Given the description of an element on the screen output the (x, y) to click on. 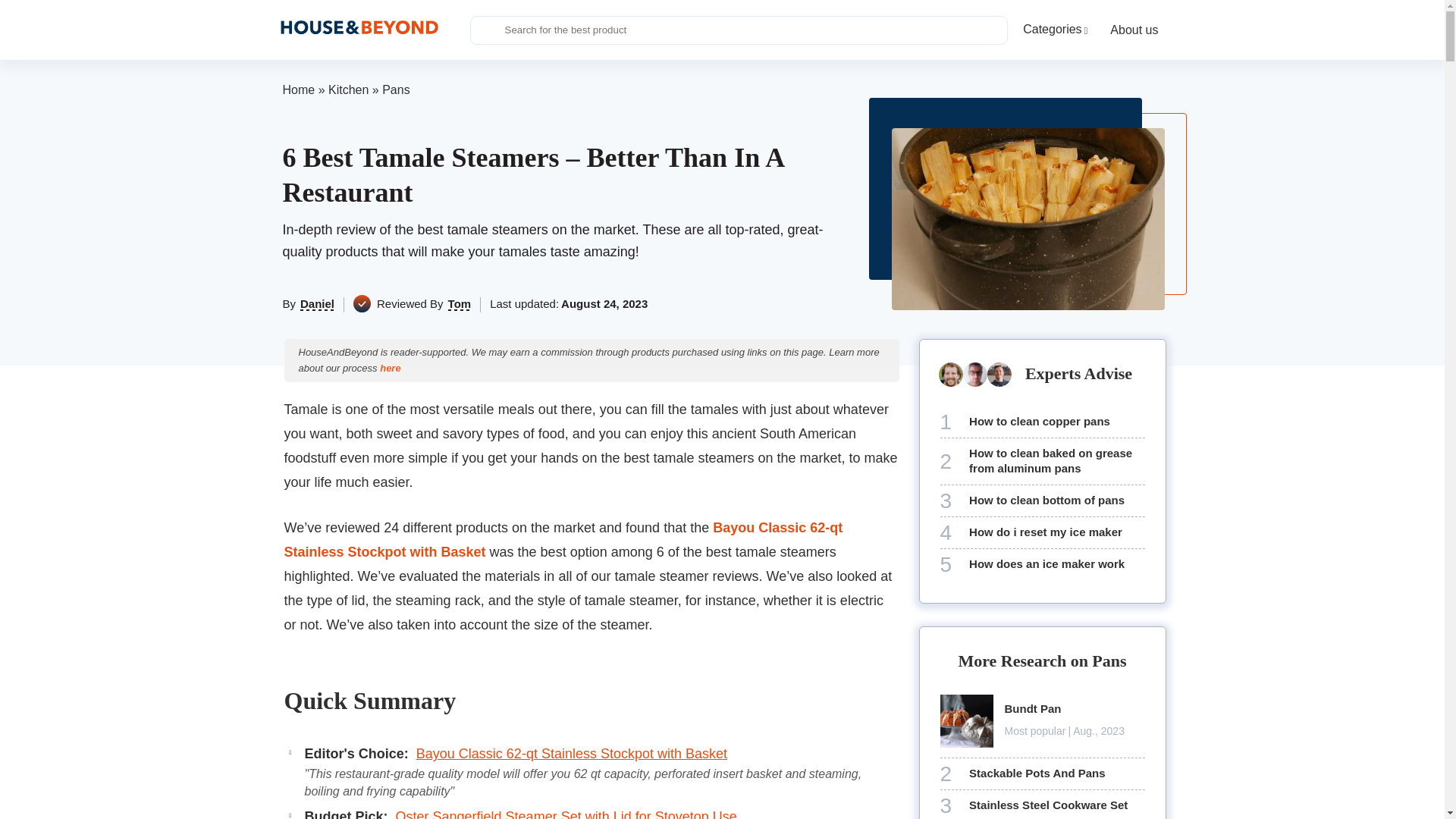
Categories (1054, 29)
